Given the description of an element on the screen output the (x, y) to click on. 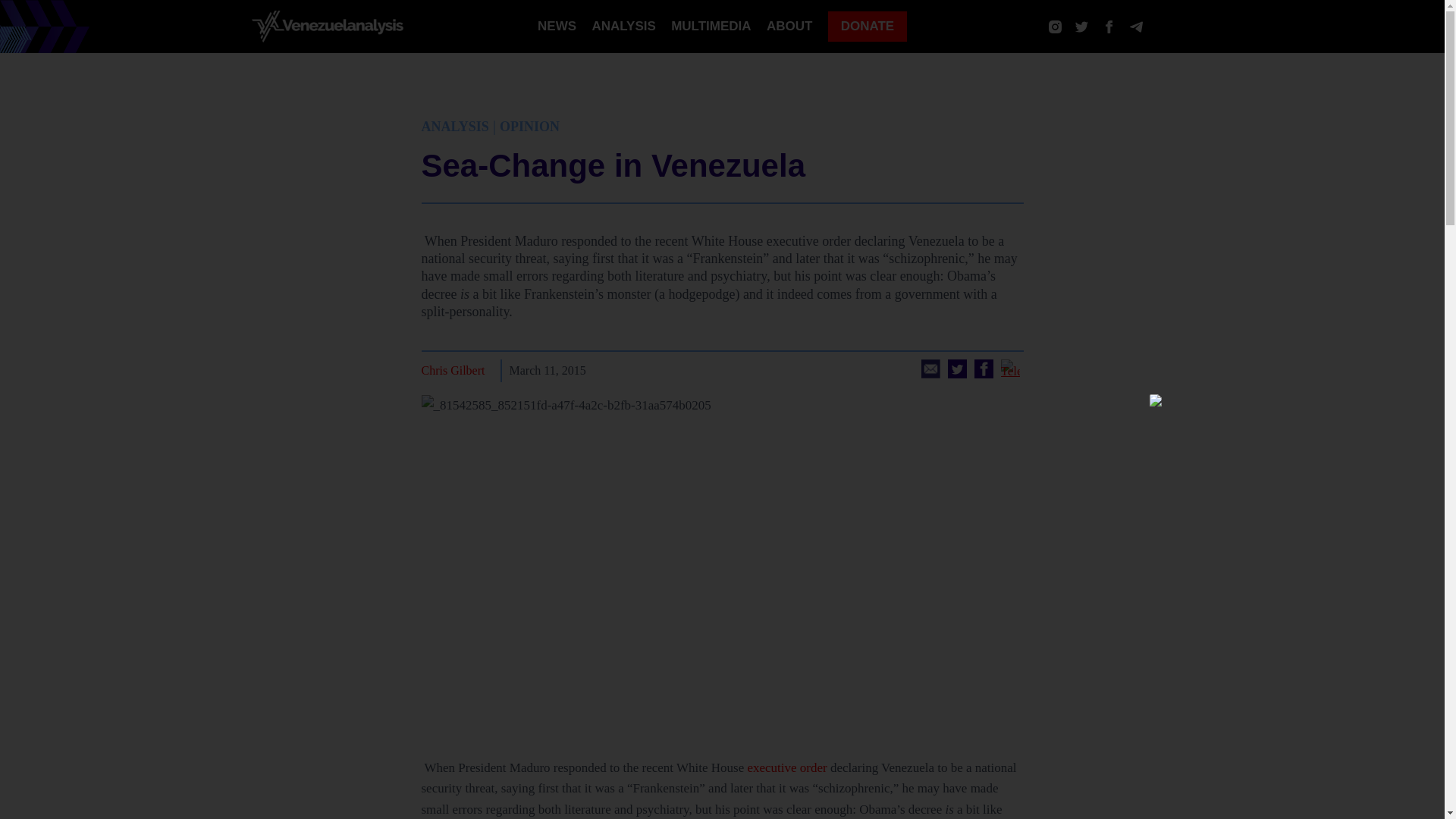
MULTIMEDIA (710, 26)
Twitter (956, 368)
OPINION (529, 126)
ANALYSIS (455, 126)
Facebook (983, 368)
ANALYSIS (623, 26)
ABOUT (789, 26)
DONATE (867, 26)
executive order (786, 767)
Chris Gilbert (453, 370)
NEWS (556, 26)
Telegram (1010, 368)
